Given the description of an element on the screen output the (x, y) to click on. 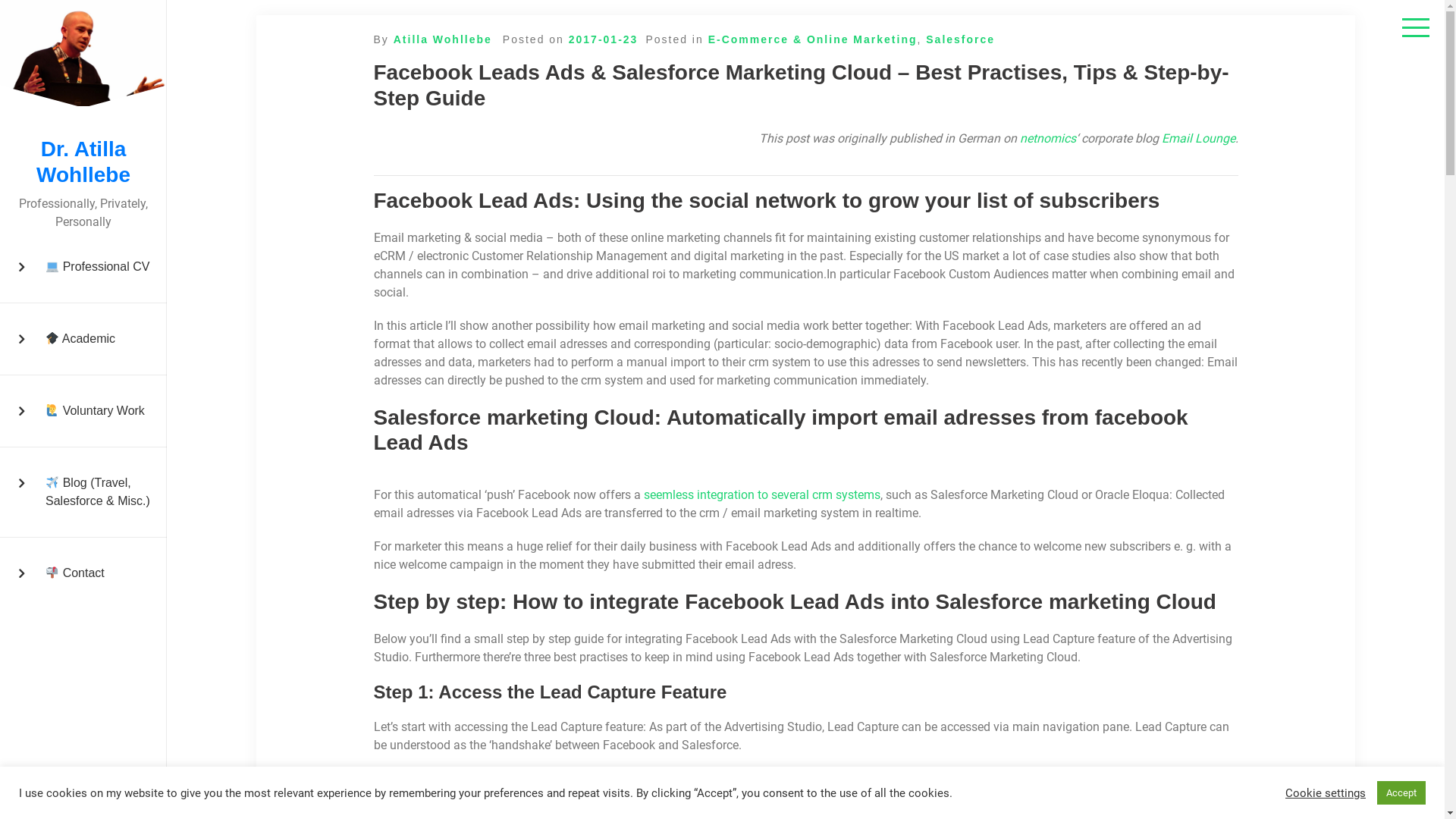
Voluntary Work Element type: text (83, 411)
2017-01-23 Element type: text (603, 39)
Contact Element type: text (83, 572)
Email Lounge Element type: text (1198, 138)
E-Commerce & Online Marketing Element type: text (812, 39)
Professional CV Element type: text (83, 267)
Academic Element type: text (83, 339)
Salesforce Element type: text (959, 39)
netnomics Element type: text (1047, 138)
Blog (Travel, Salesforce & Misc.) Element type: text (83, 492)
seemless integration to several crm systems Element type: text (761, 495)
Dr. Atilla Wohllebe Element type: text (83, 161)
Accept Element type: text (1401, 792)
Atilla Wohllebe Element type: text (442, 39)
Cookie settings Element type: text (1325, 792)
